Given the description of an element on the screen output the (x, y) to click on. 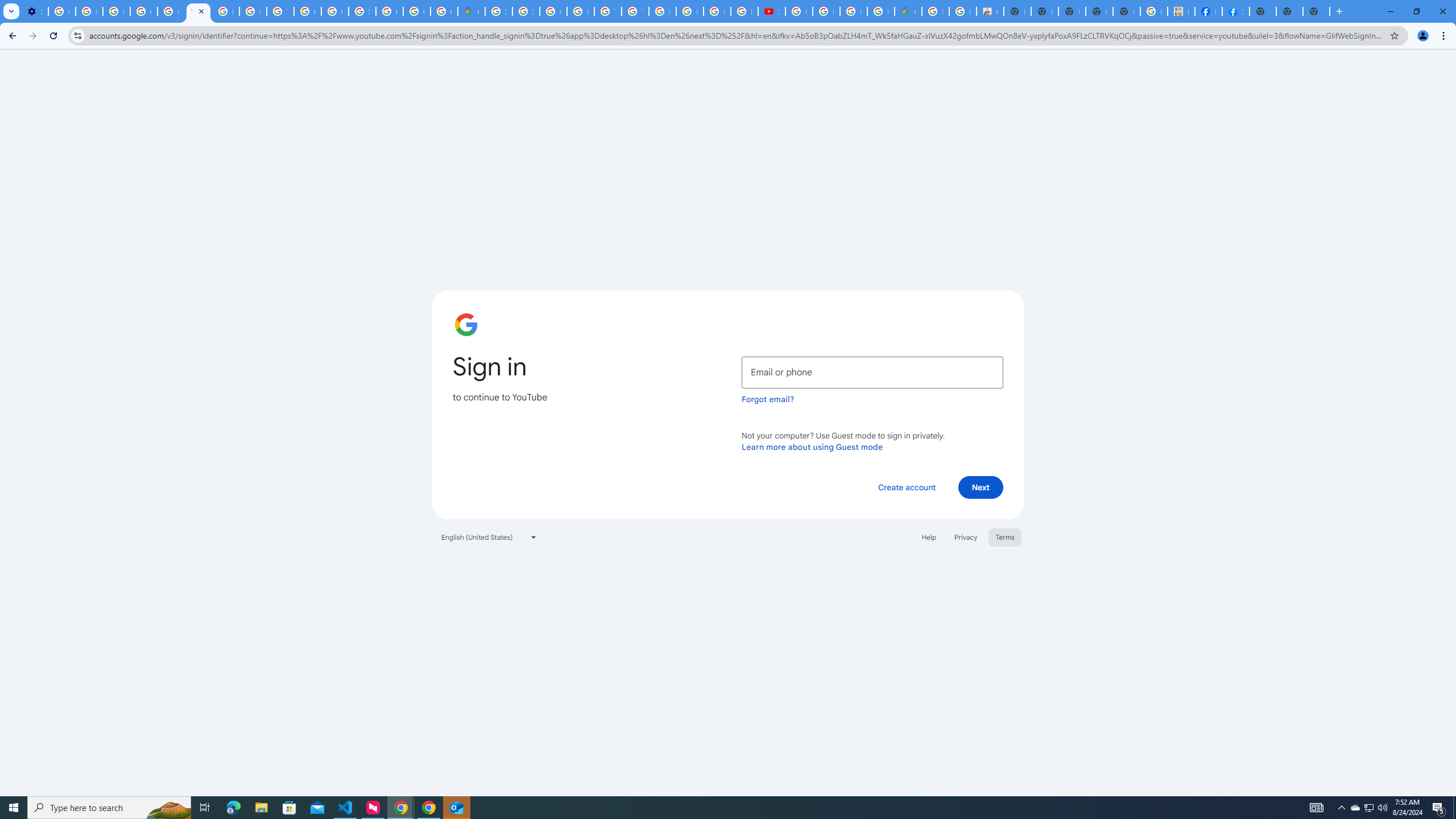
Forgot email? (767, 398)
Sign Up for Facebook (1236, 11)
Terms and Conditions (607, 11)
Create account (905, 486)
Sign in - Google Accounts (525, 11)
MILEY CYRUS. (1180, 11)
Privacy Help Center - Policies Help (170, 11)
